Given the description of an element on the screen output the (x, y) to click on. 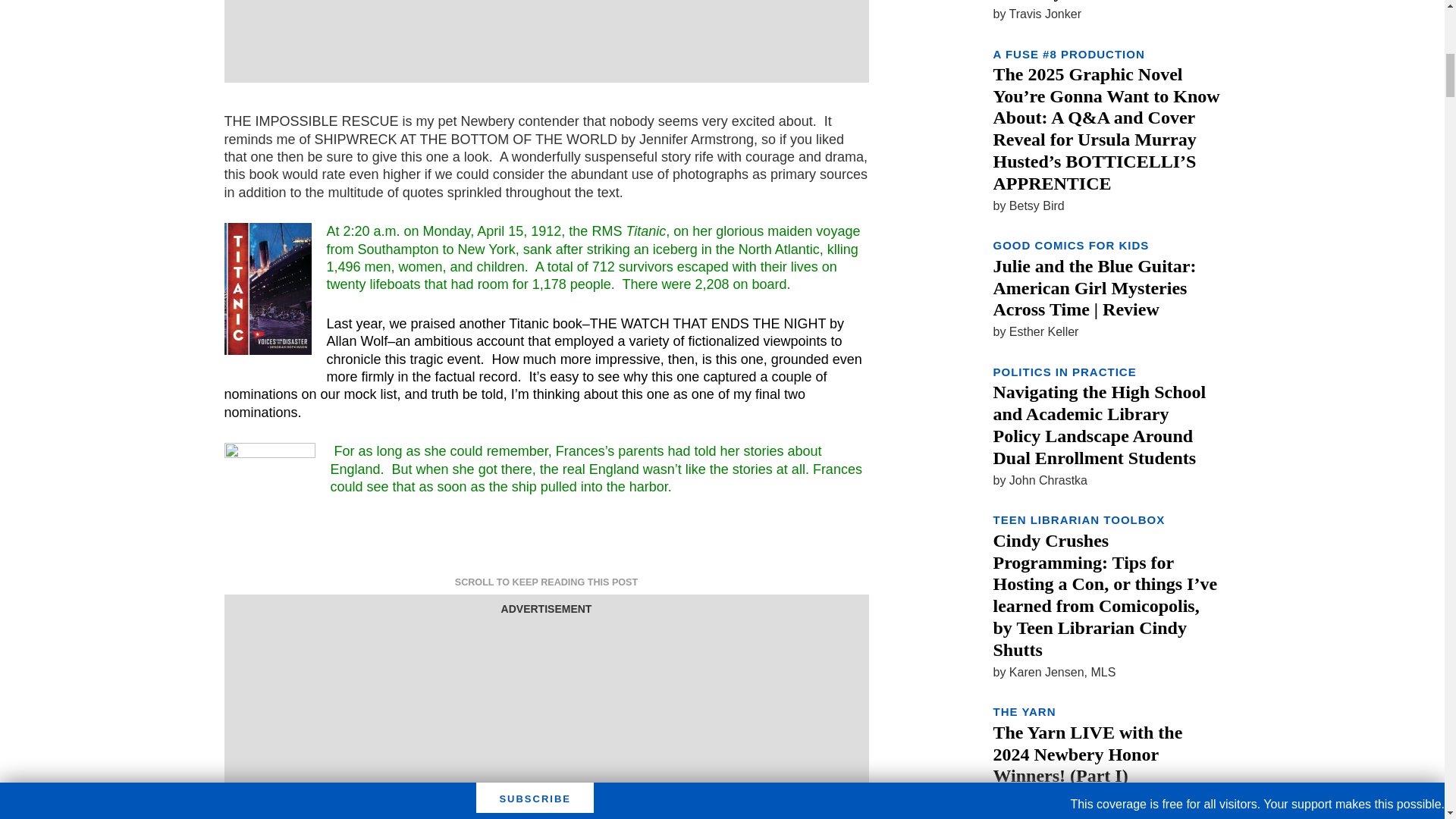
3rd party ad content (545, 33)
3rd party ad content (545, 714)
SCROLL TO KEEP READING THIS POST (546, 581)
